Given the description of an element on the screen output the (x, y) to click on. 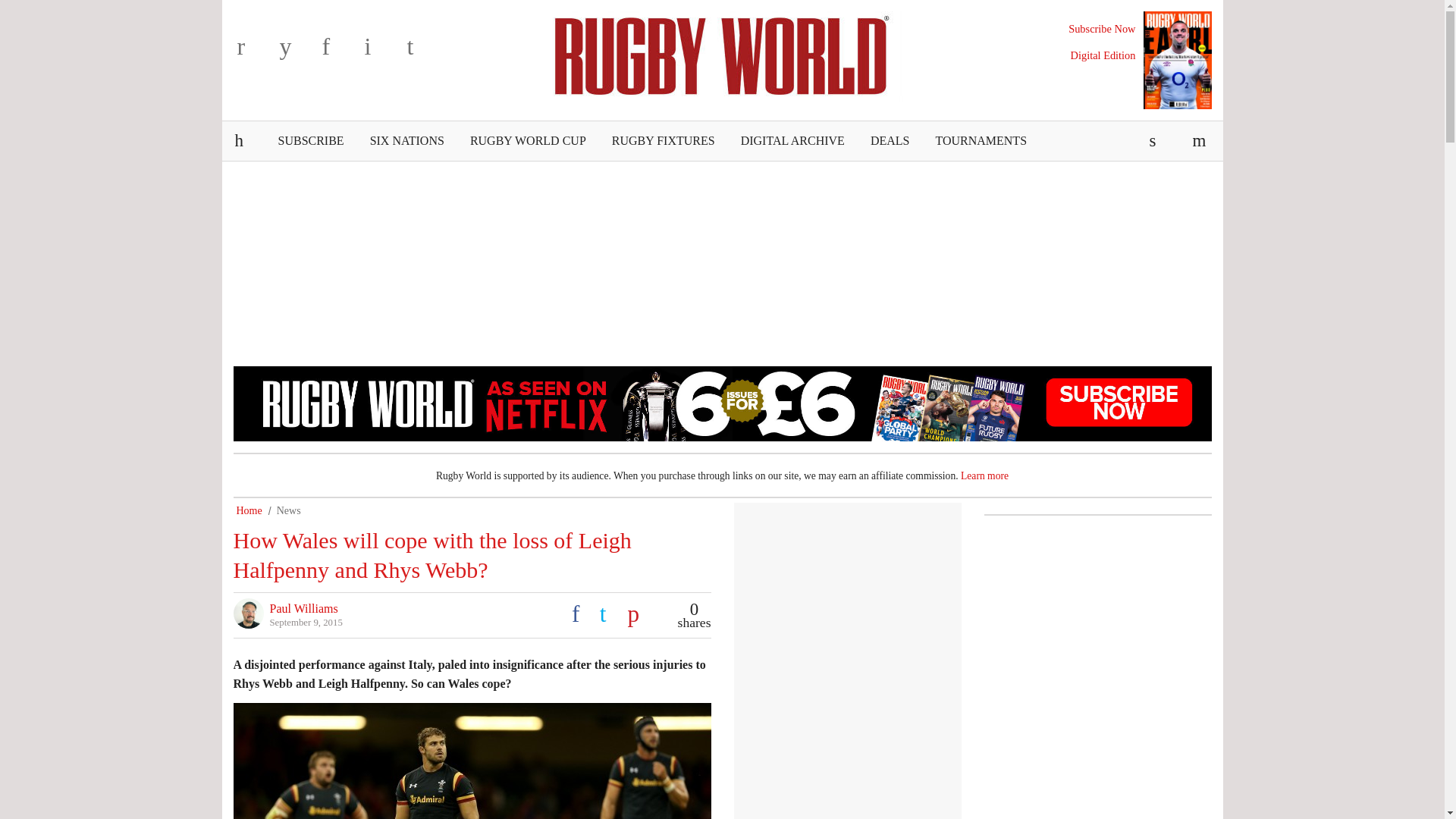
Paul Williams's Profile (303, 608)
i (382, 52)
Rugby World (721, 53)
Rugby World (721, 53)
t (424, 52)
Digital Edition (1102, 55)
Subscribe Now (1101, 28)
Subscribe Now (1101, 28)
f (339, 52)
r (254, 52)
Latest Issue of Rugby World (1176, 59)
Digital Edition (1102, 55)
y (297, 52)
